Given the description of an element on the screen output the (x, y) to click on. 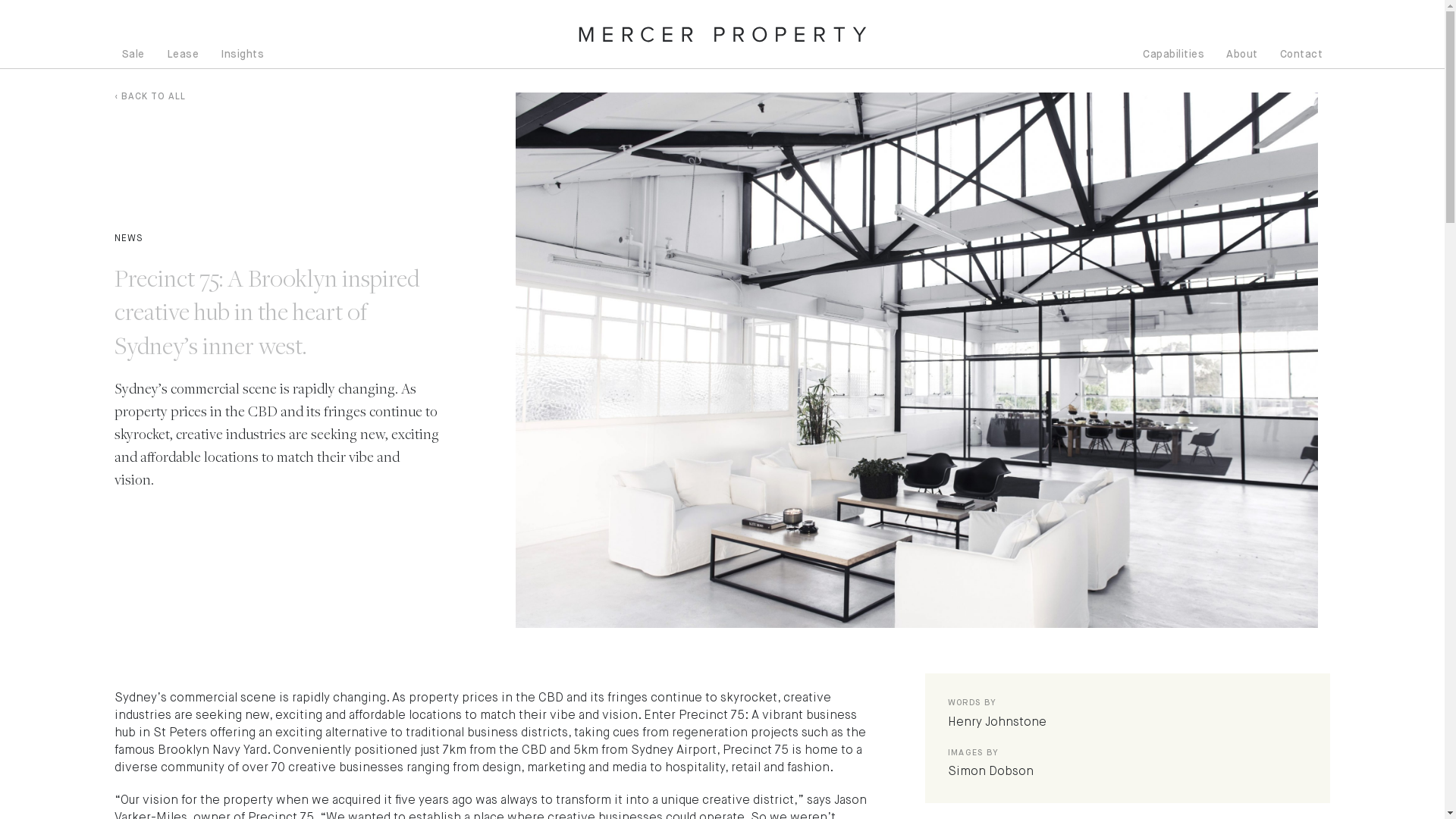
Mercer Property -  Element type: hover (418, 613)
Contact Element type: text (1301, 52)
About Element type: text (128, 735)
Instagram Element type: text (330, 712)
About Element type: text (1241, 52)
Linkedin Element type: text (325, 735)
Sale Element type: text (133, 52)
Lease Element type: text (183, 52)
Insights Element type: text (242, 52)
admin@mercerproperty.com.au Element type: text (182, 786)
Capabilities Element type: text (1173, 52)
Contact Element type: text (133, 712)
